Given the description of an element on the screen output the (x, y) to click on. 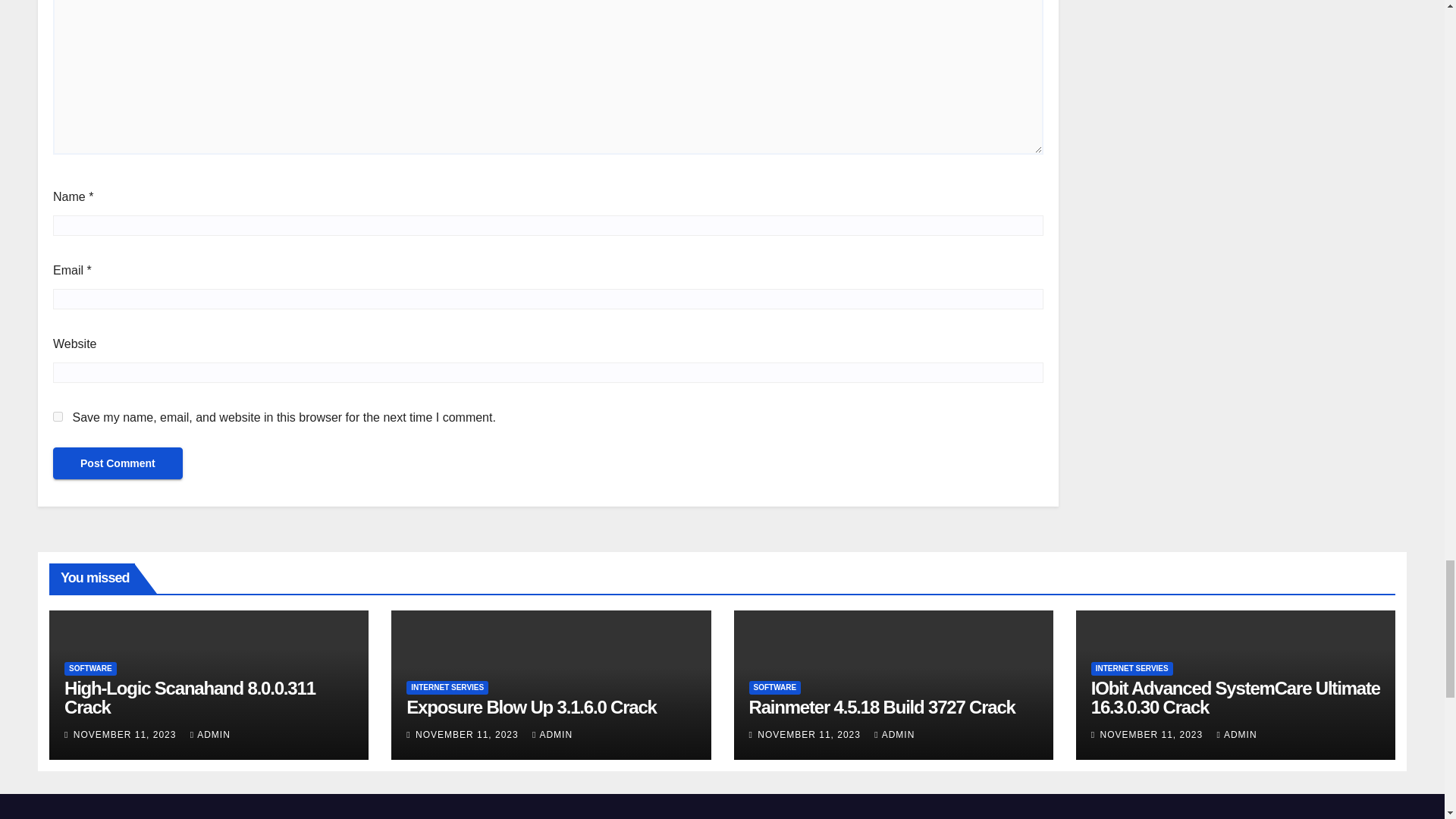
yes (57, 416)
Post Comment (117, 463)
